Given the description of an element on the screen output the (x, y) to click on. 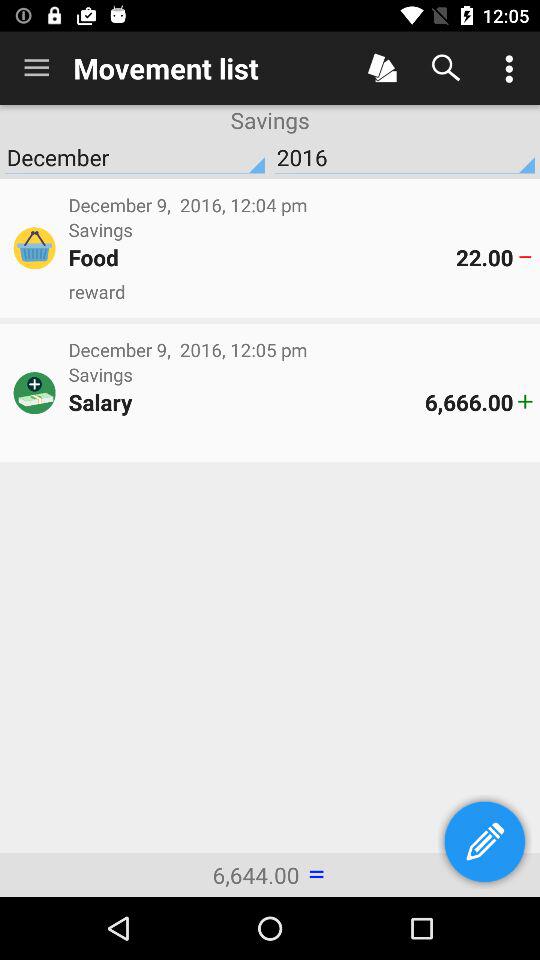
tap the item to the left of 6,666.00 icon (246, 401)
